Given the description of an element on the screen output the (x, y) to click on. 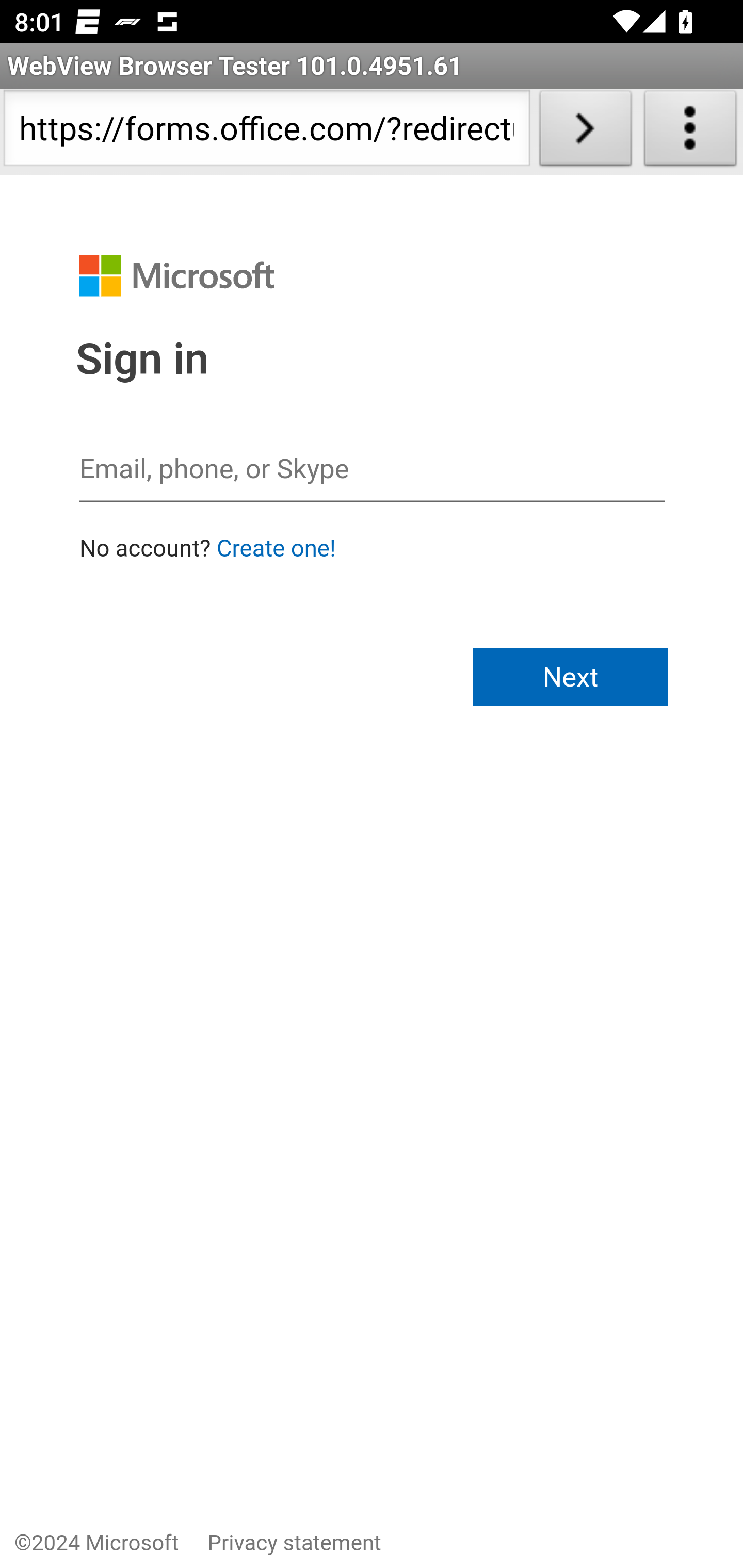
Load URL (585, 132)
About WebView (690, 132)
Create a Microsoft account Create one! (275, 548)
Next (571, 676)
Privacy statement (293, 1542)
